Given the description of an element on the screen output the (x, y) to click on. 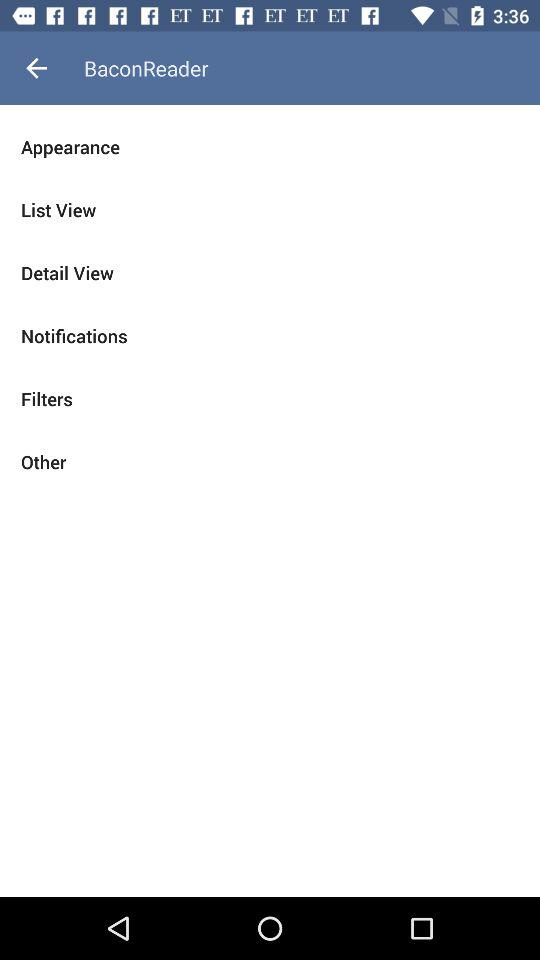
swipe until list view icon (270, 209)
